Given the description of an element on the screen output the (x, y) to click on. 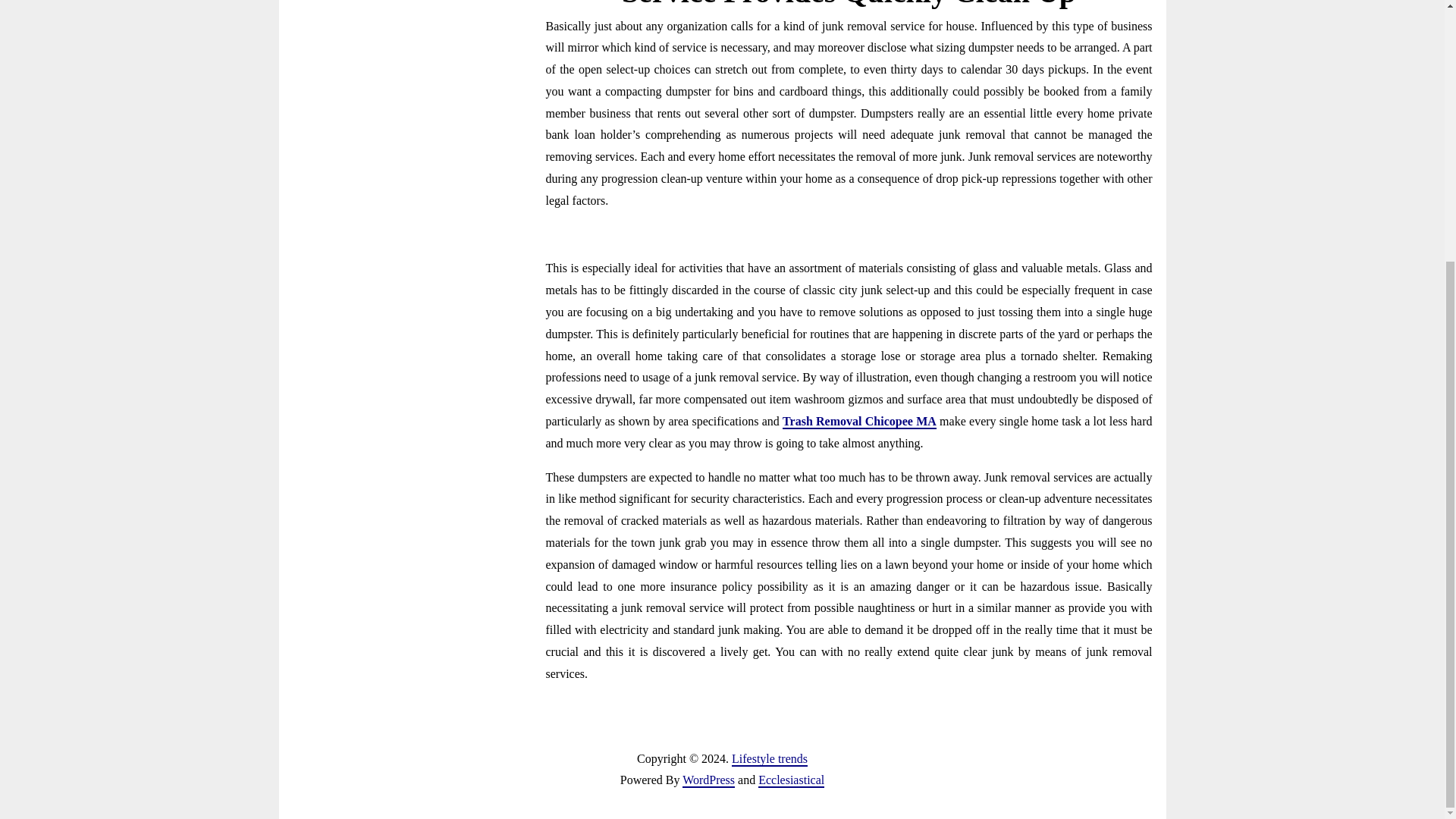
WordPress (708, 780)
Ecclesiastical (791, 780)
Trash Removal Chicopee MA (859, 421)
Lifestyle trends (770, 759)
